Given the description of an element on the screen output the (x, y) to click on. 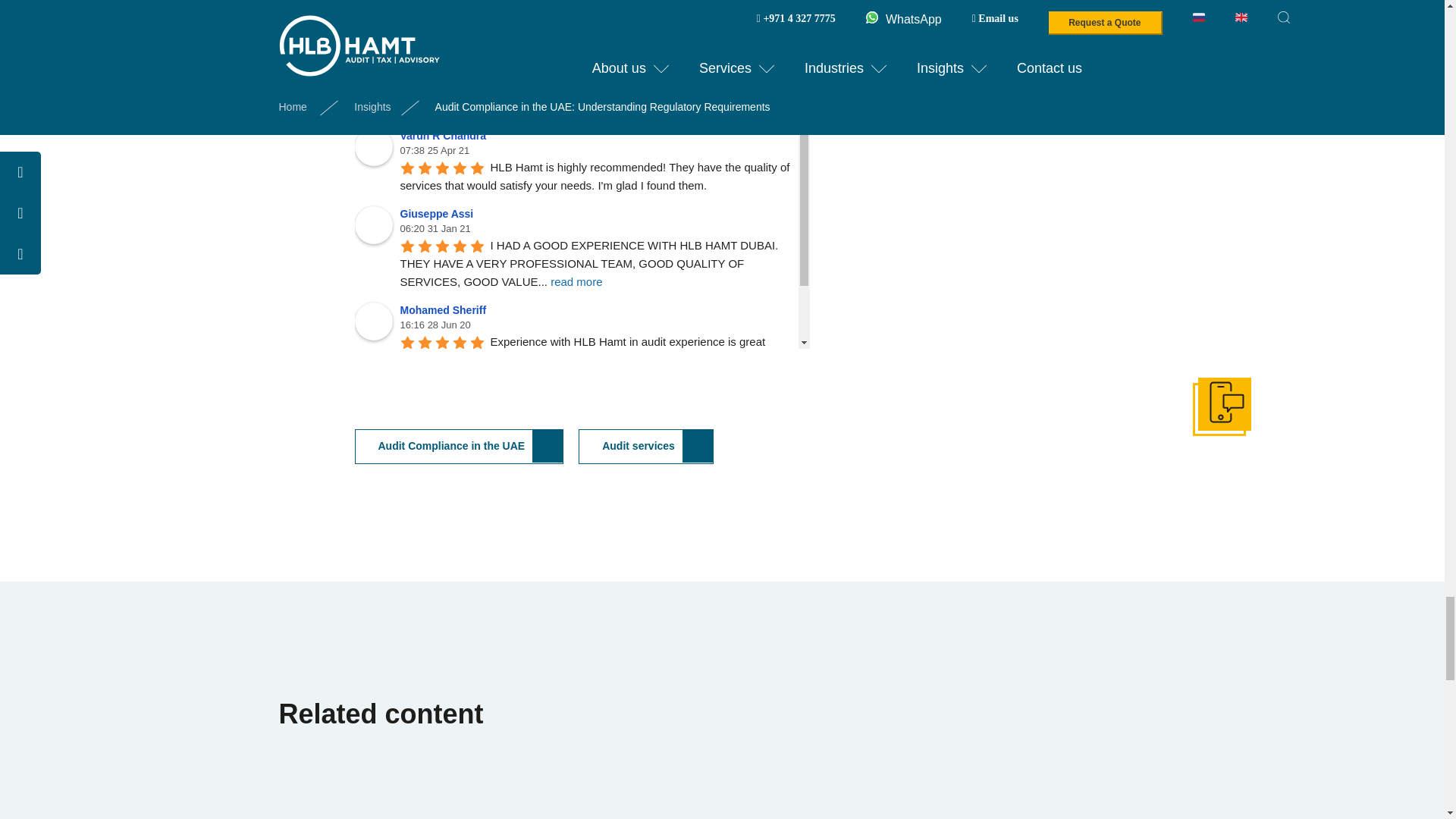
powered by Google (454, 71)
Mohamed Sheriff (374, 321)
Varun R Chandra (374, 146)
Giuseppe Assi (374, 225)
HLB HAMT - Audit, Tax, Accounting and Business Advisory (374, 26)
